Given the description of an element on the screen output the (x, y) to click on. 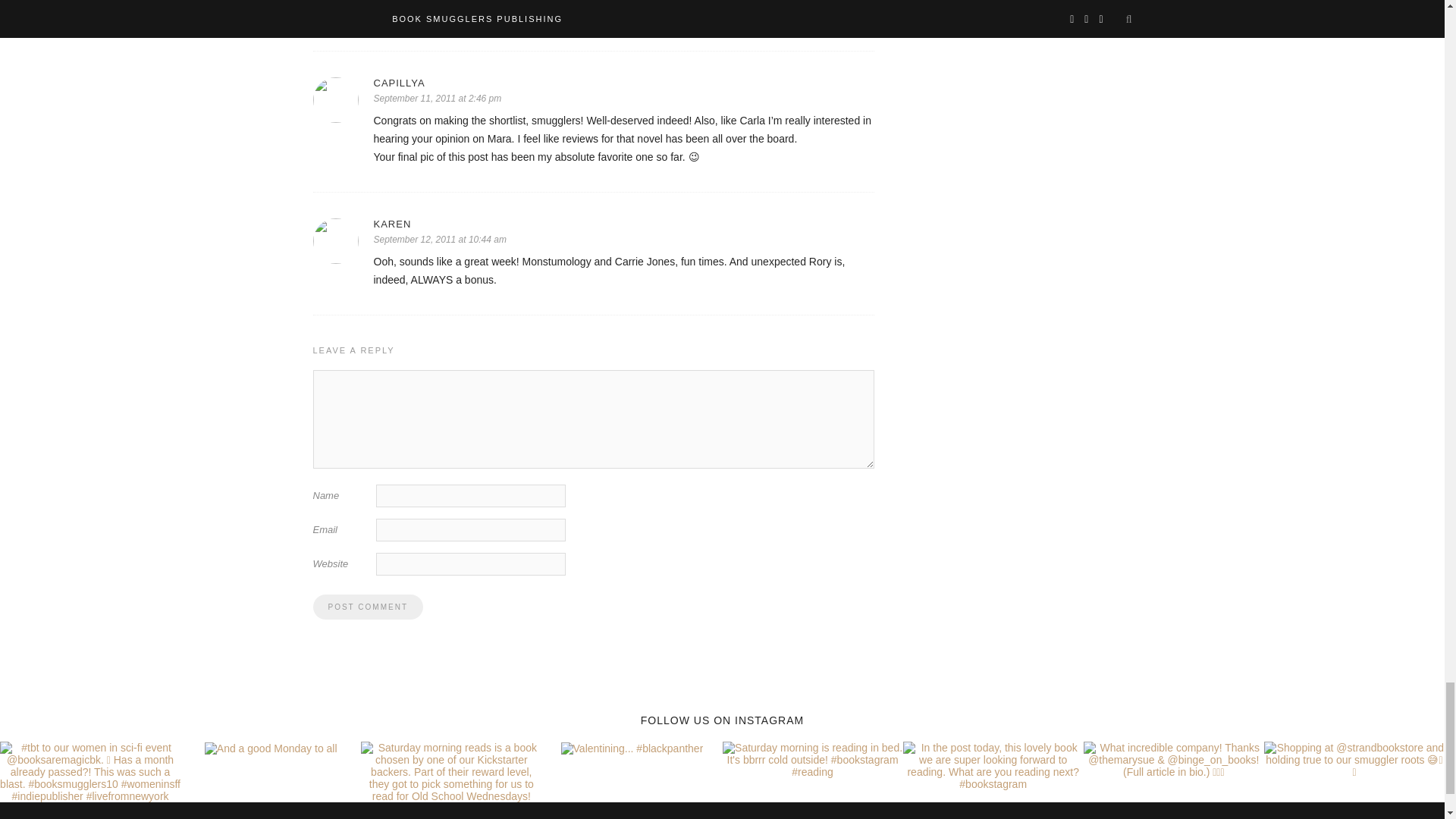
Post Comment (367, 636)
And a good Monday to all (271, 777)
